Given the description of an element on the screen output the (x, y) to click on. 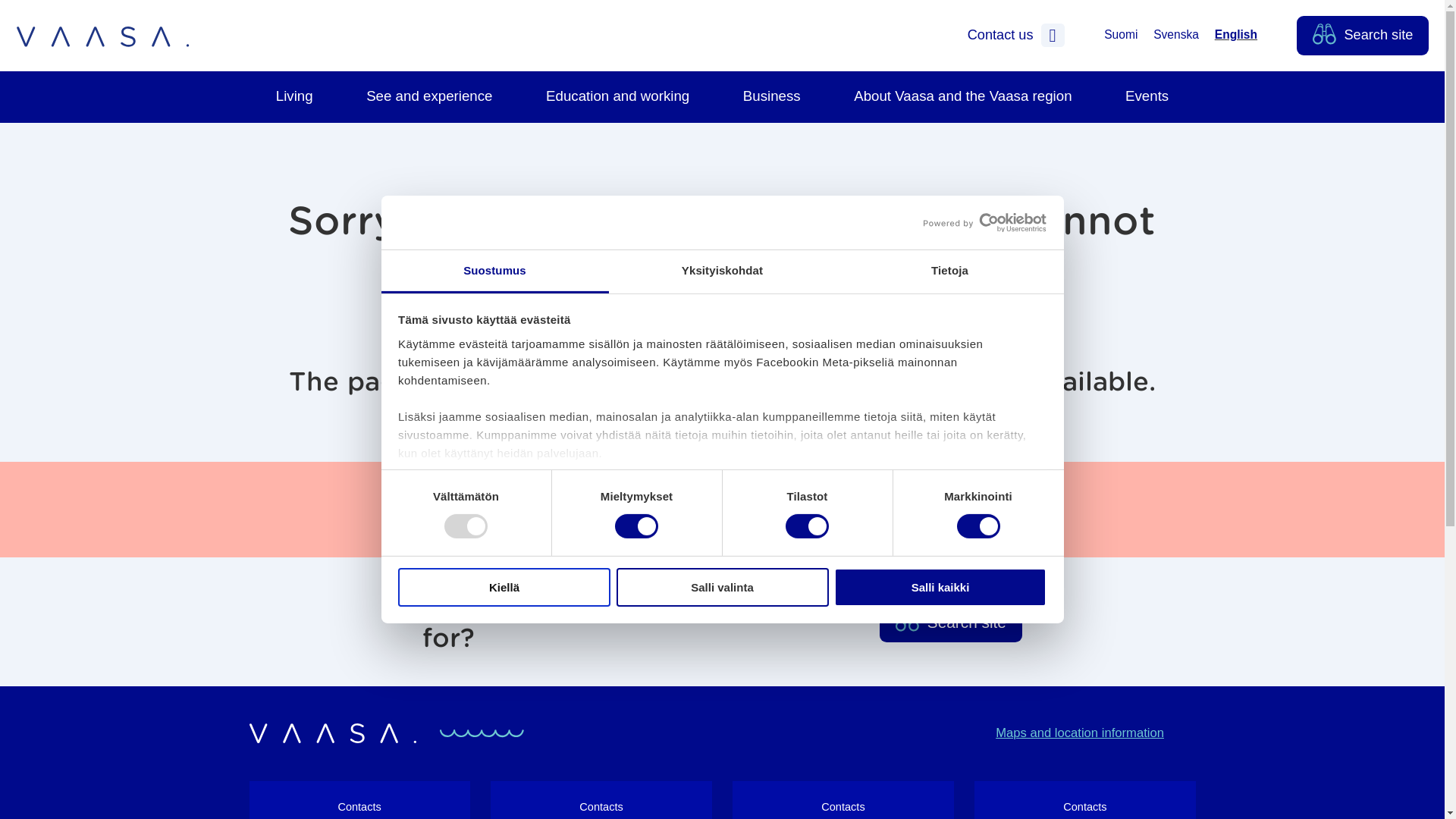
Tietoja (948, 271)
Yksityiskohdat (721, 271)
Suostumus (494, 271)
